Given the description of an element on the screen output the (x, y) to click on. 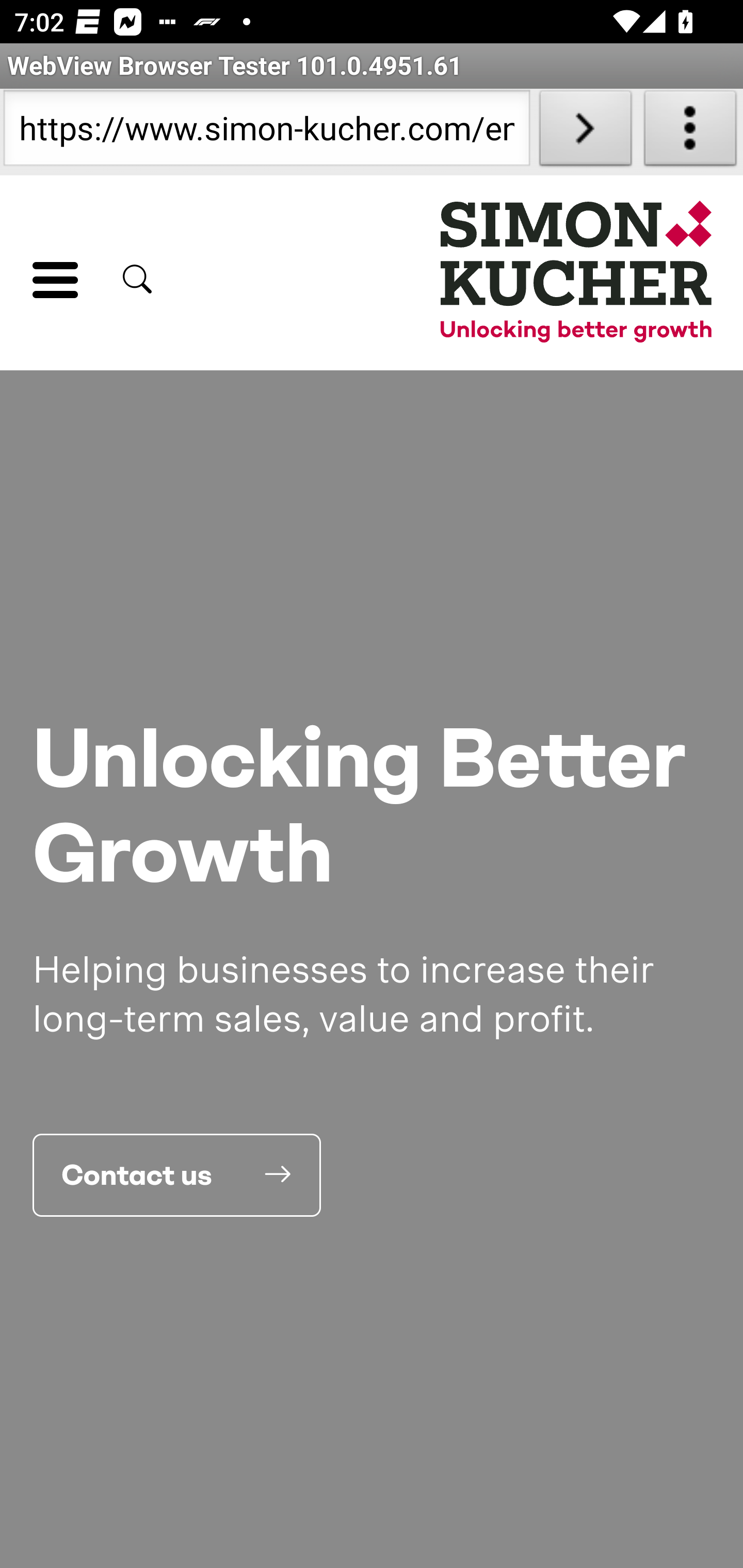
Load URL (585, 132)
About WebView (690, 132)
en (576, 274)
Contact us Contact us  (176, 1174)
